Given the description of an element on the screen output the (x, y) to click on. 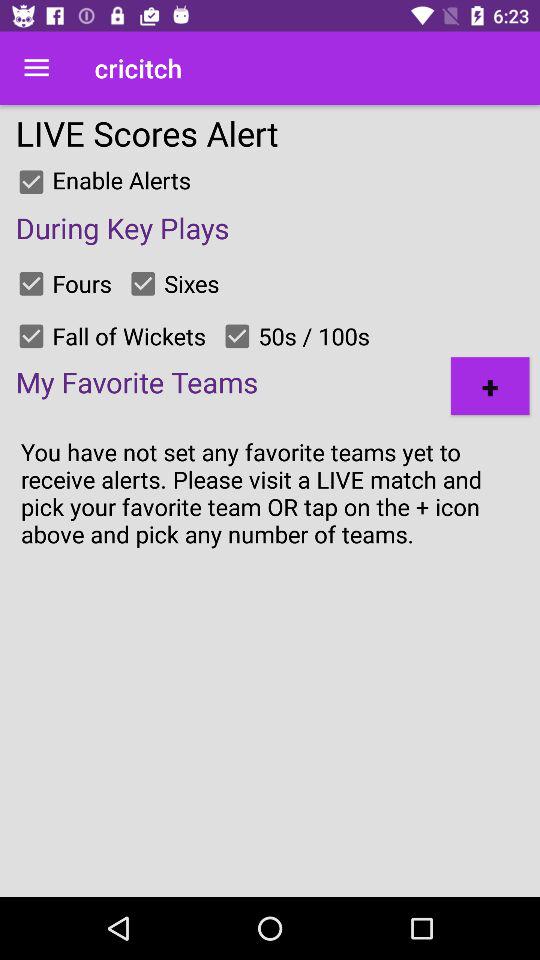
select an option (31, 283)
